Given the description of an element on the screen output the (x, y) to click on. 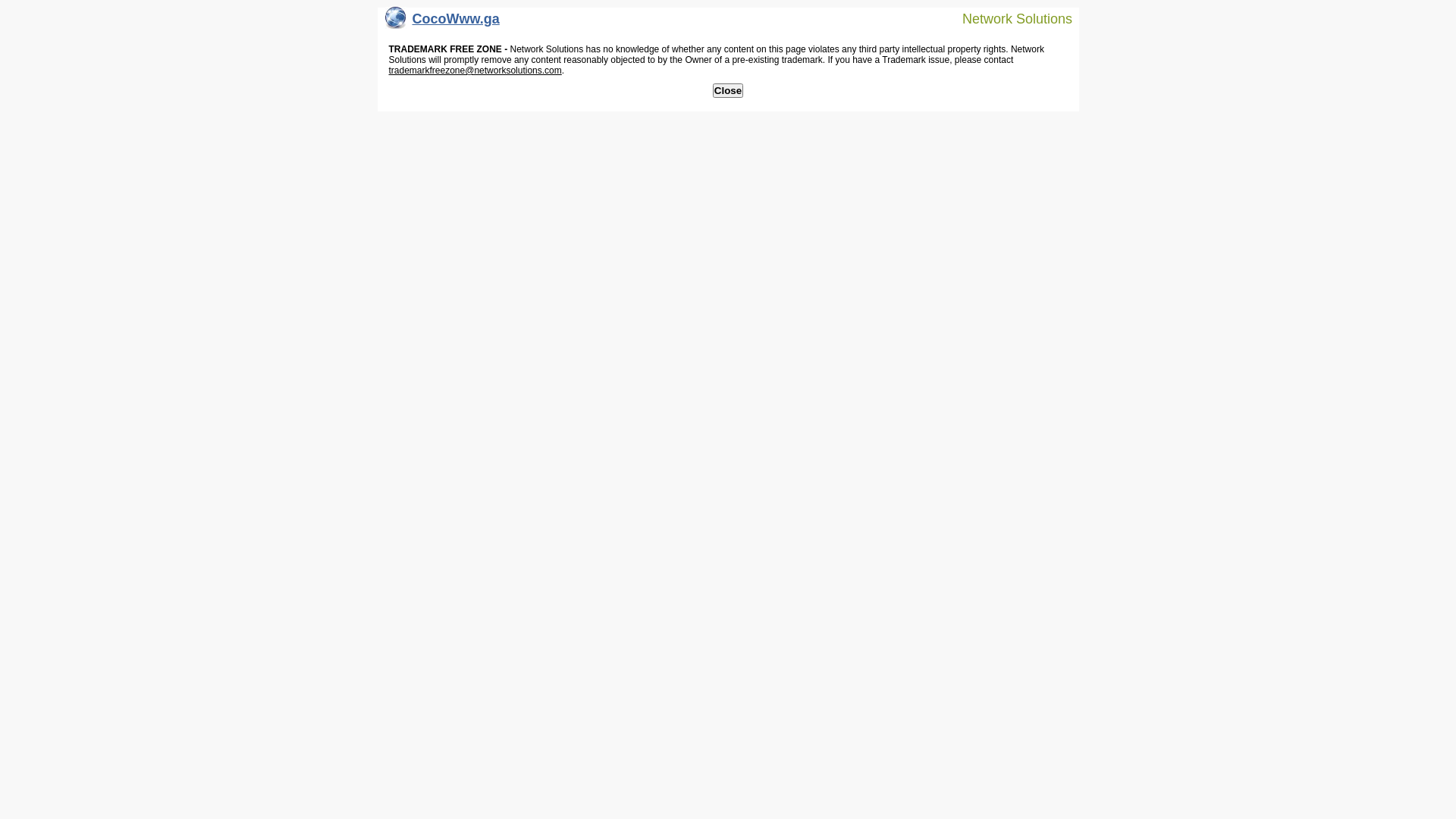
Network Solutions Element type: text (1007, 17)
Close Element type: text (727, 90)
CocoWww.ga Element type: text (442, 21)
trademarkfreezone@networksolutions.com Element type: text (474, 70)
